Given the description of an element on the screen output the (x, y) to click on. 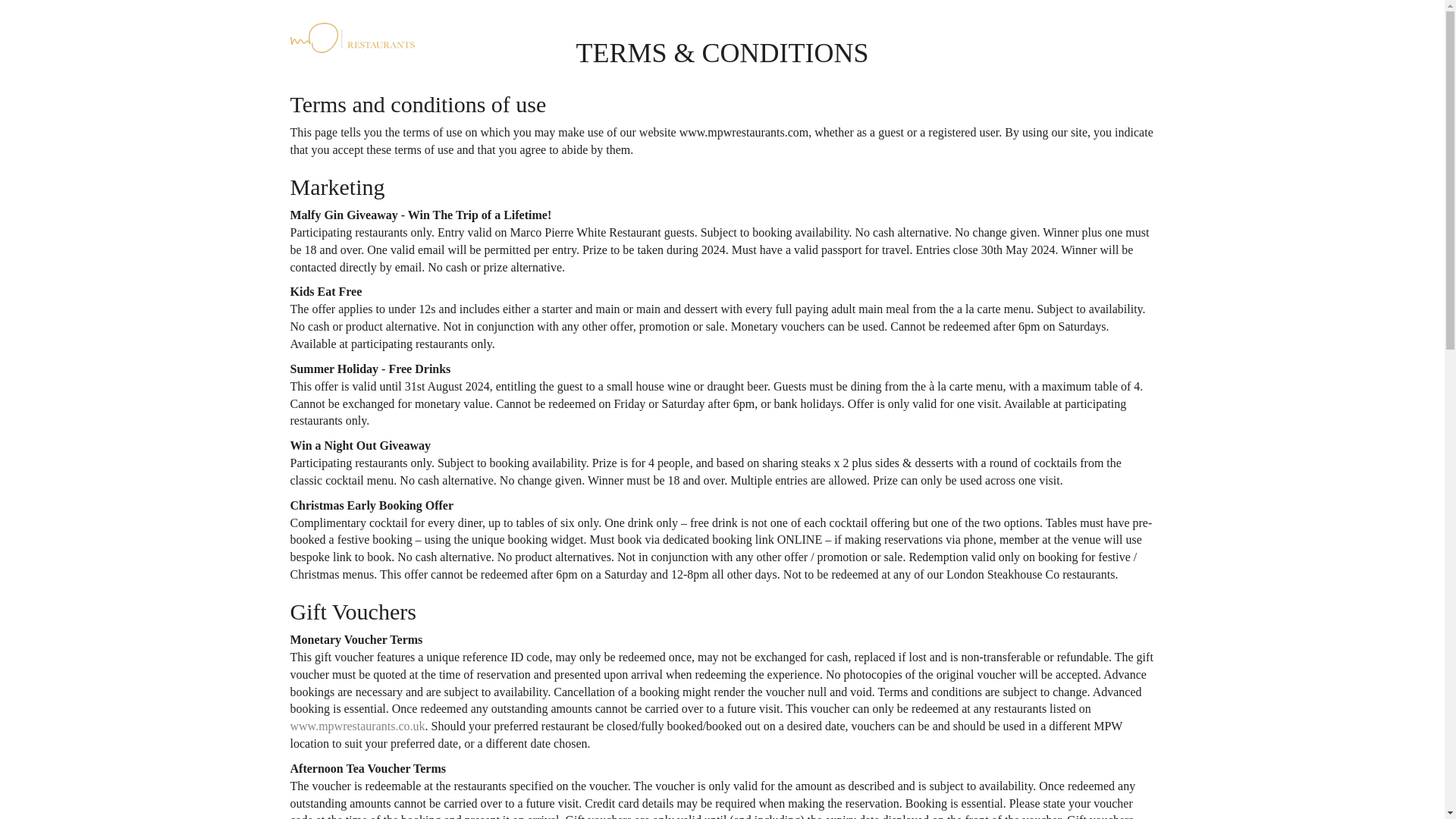
www.mpwrestaurants.co.uk (357, 725)
OFFERS (828, 34)
CHRISTMAS (1031, 34)
NEWS (888, 34)
RESTAURANTS (740, 34)
CAREERS (1116, 34)
GIFTING (950, 34)
Home (387, 35)
